Given the description of an element on the screen output the (x, y) to click on. 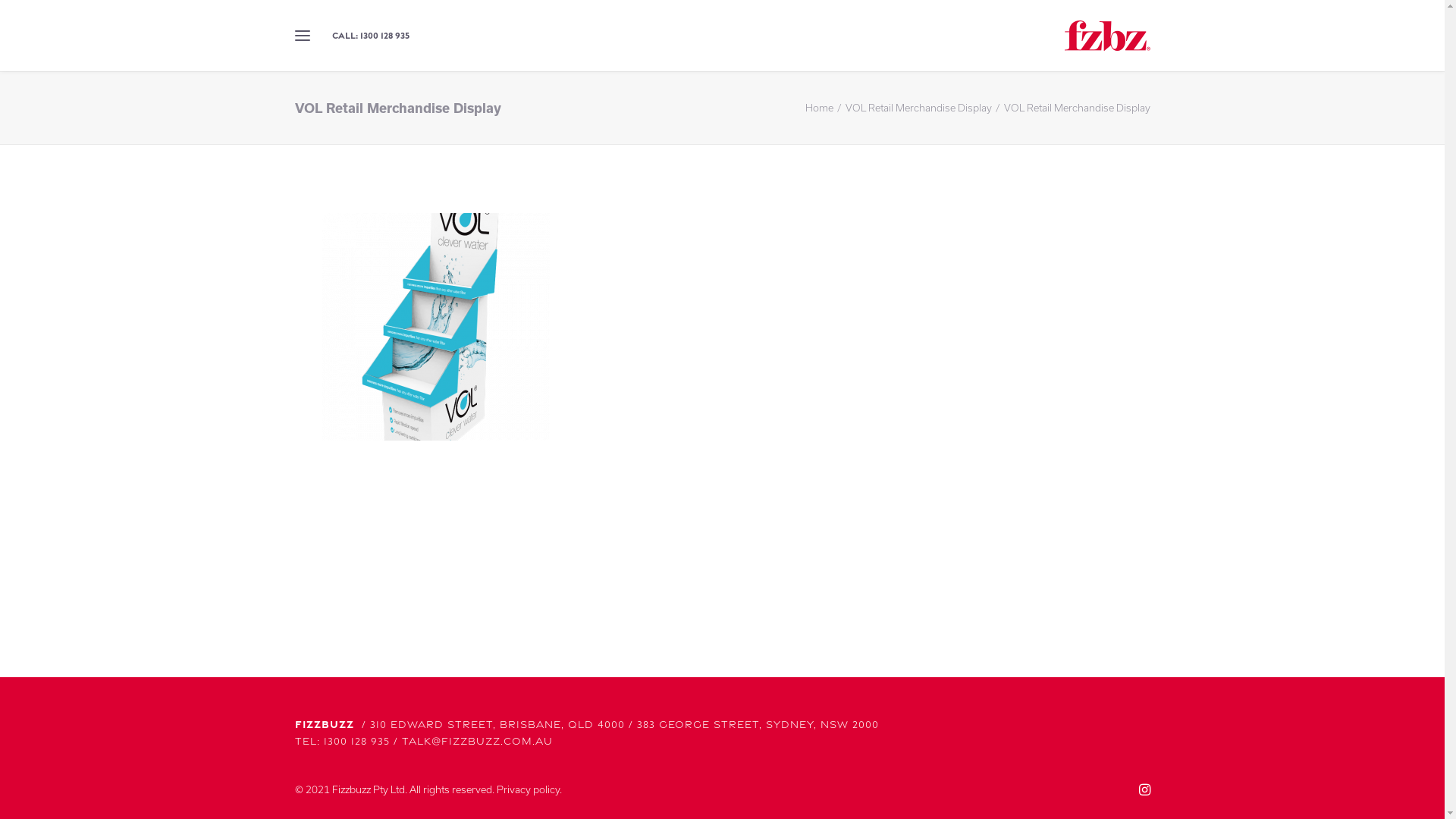
Privacy policy Element type: text (526, 789)
talk@fizzbuzz.com.au Element type: text (476, 740)
Call: 1300 128 935 Element type: text (366, 35)
VOL Retail Merchandise Display Element type: text (917, 107)
Home Element type: text (819, 107)
